Given the description of an element on the screen output the (x, y) to click on. 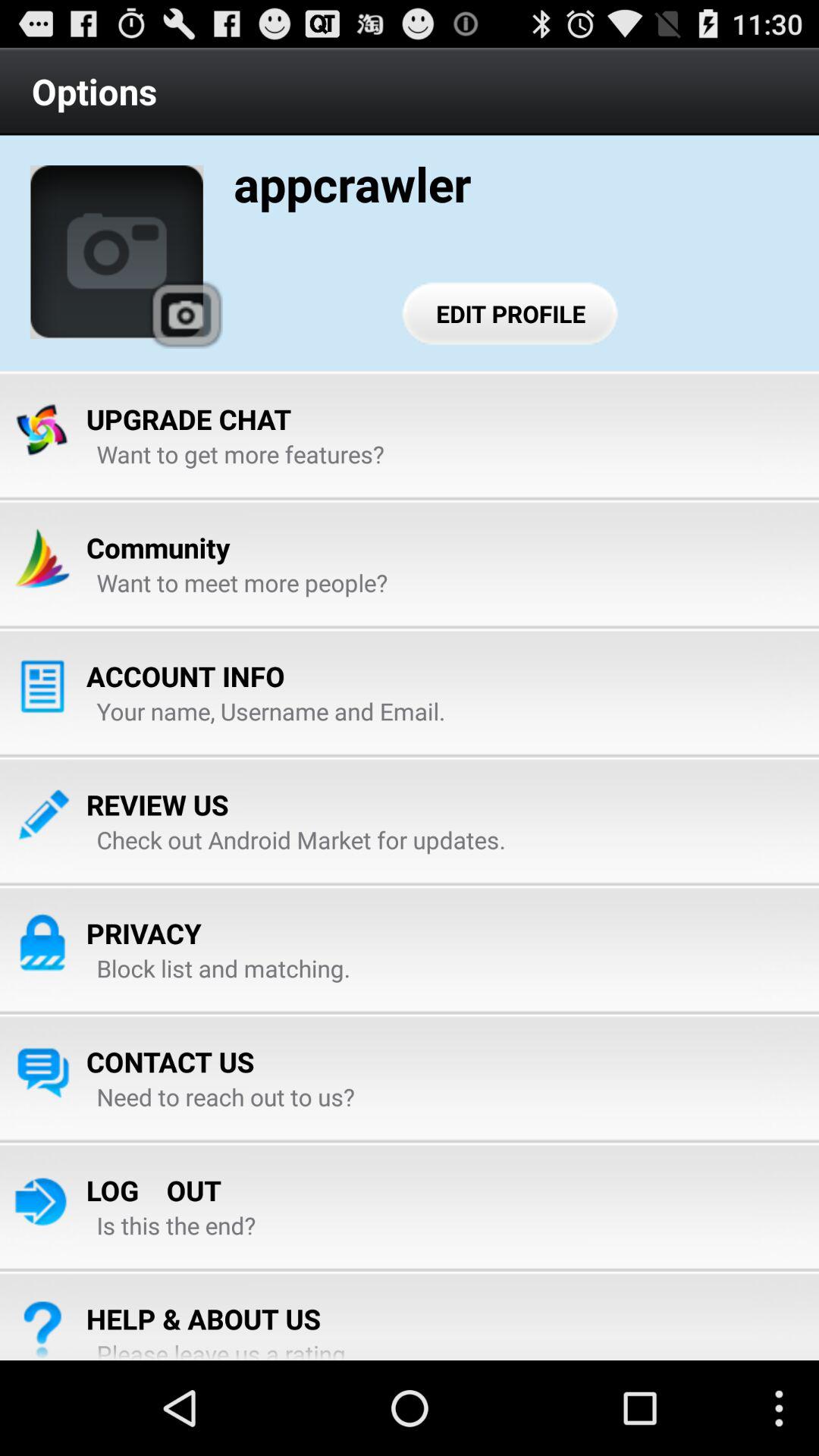
turn on review us (157, 804)
